Given the description of an element on the screen output the (x, y) to click on. 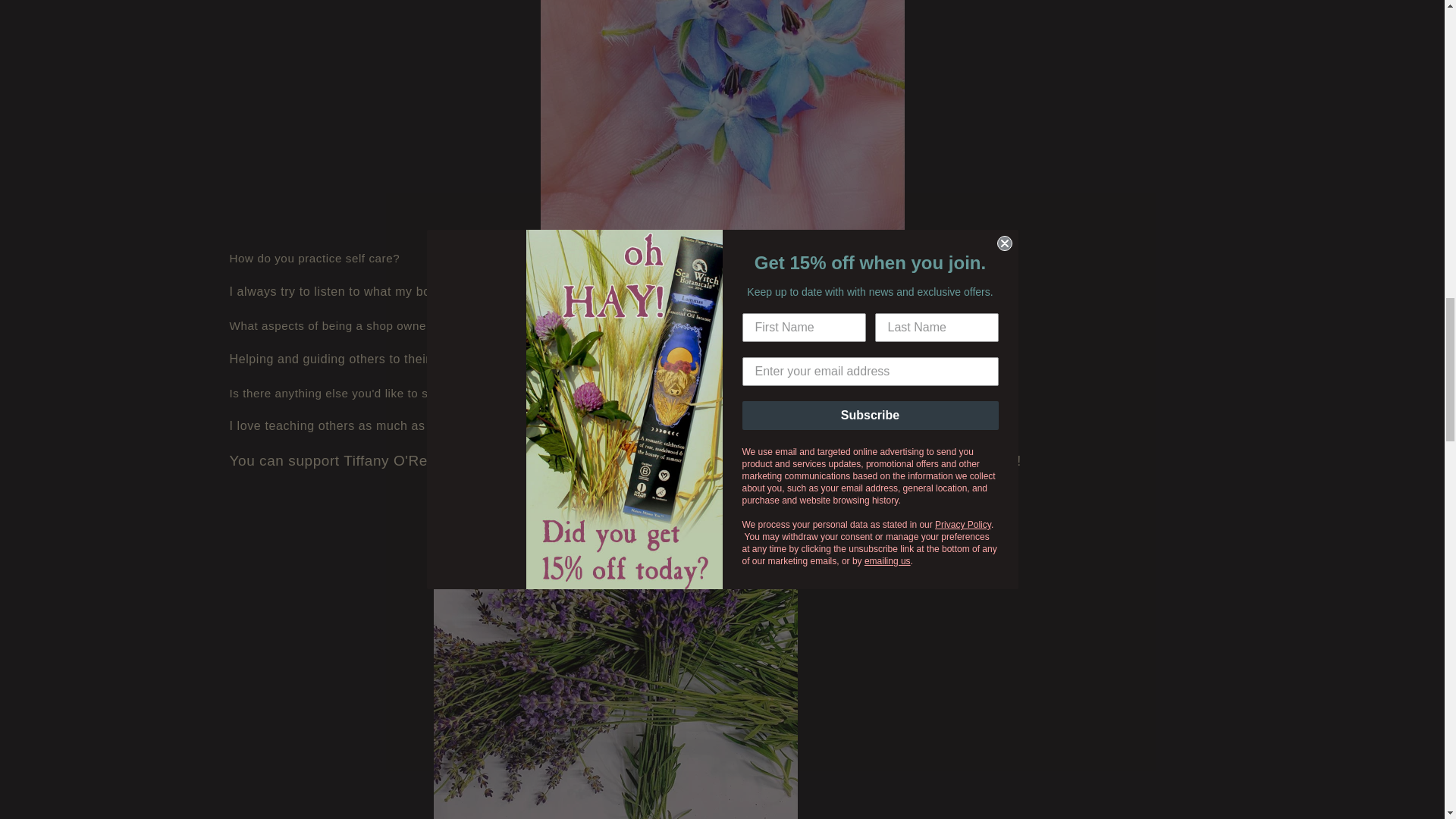
Amberwing Apothecary on instagram (819, 460)
